Given the description of an element on the screen output the (x, y) to click on. 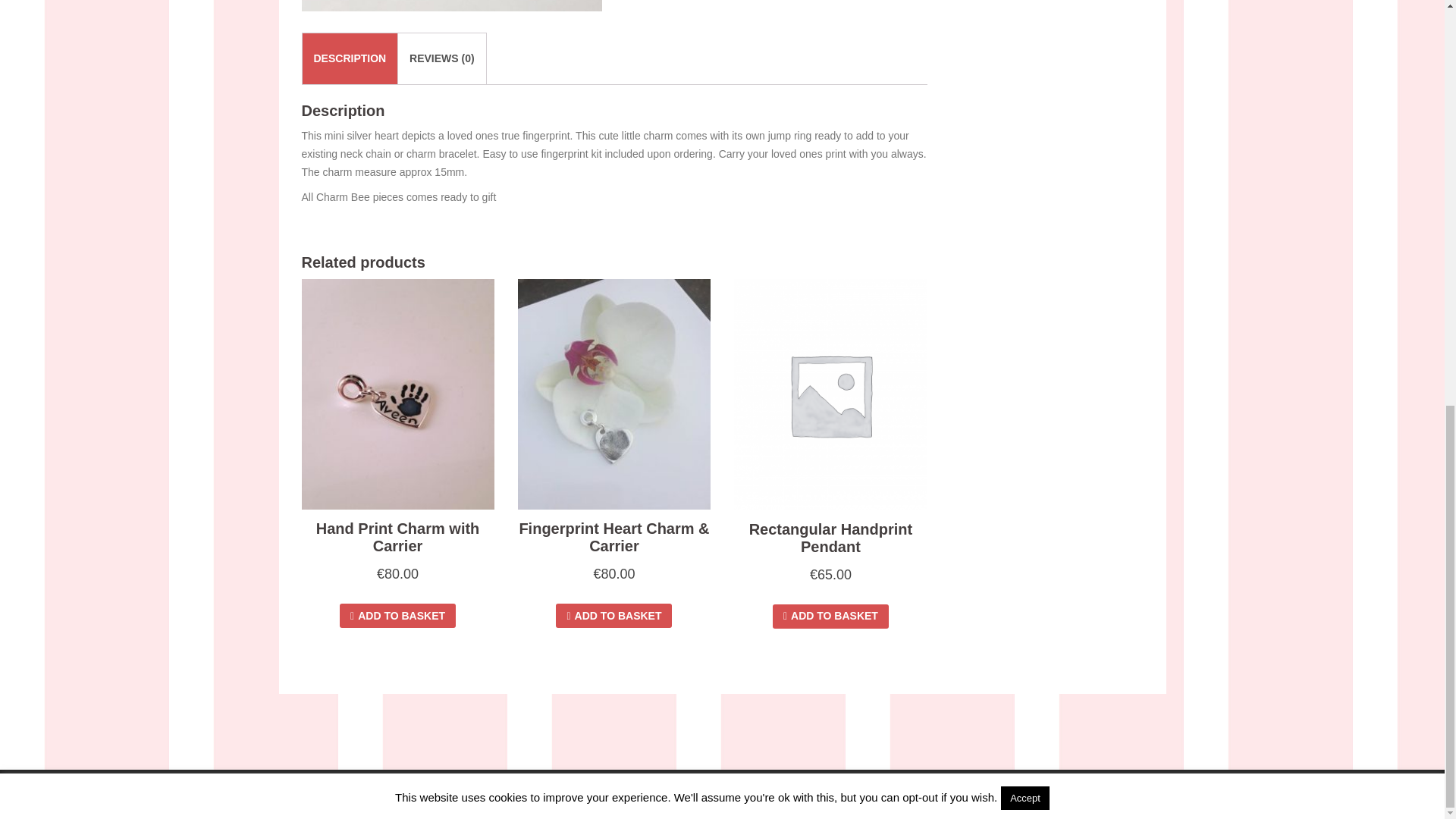
hrt (451, 5)
ADD TO BASKET (613, 615)
ADD TO BASKET (830, 616)
DESCRIPTION (350, 58)
ADD TO BASKET (397, 615)
